Given the description of an element on the screen output the (x, y) to click on. 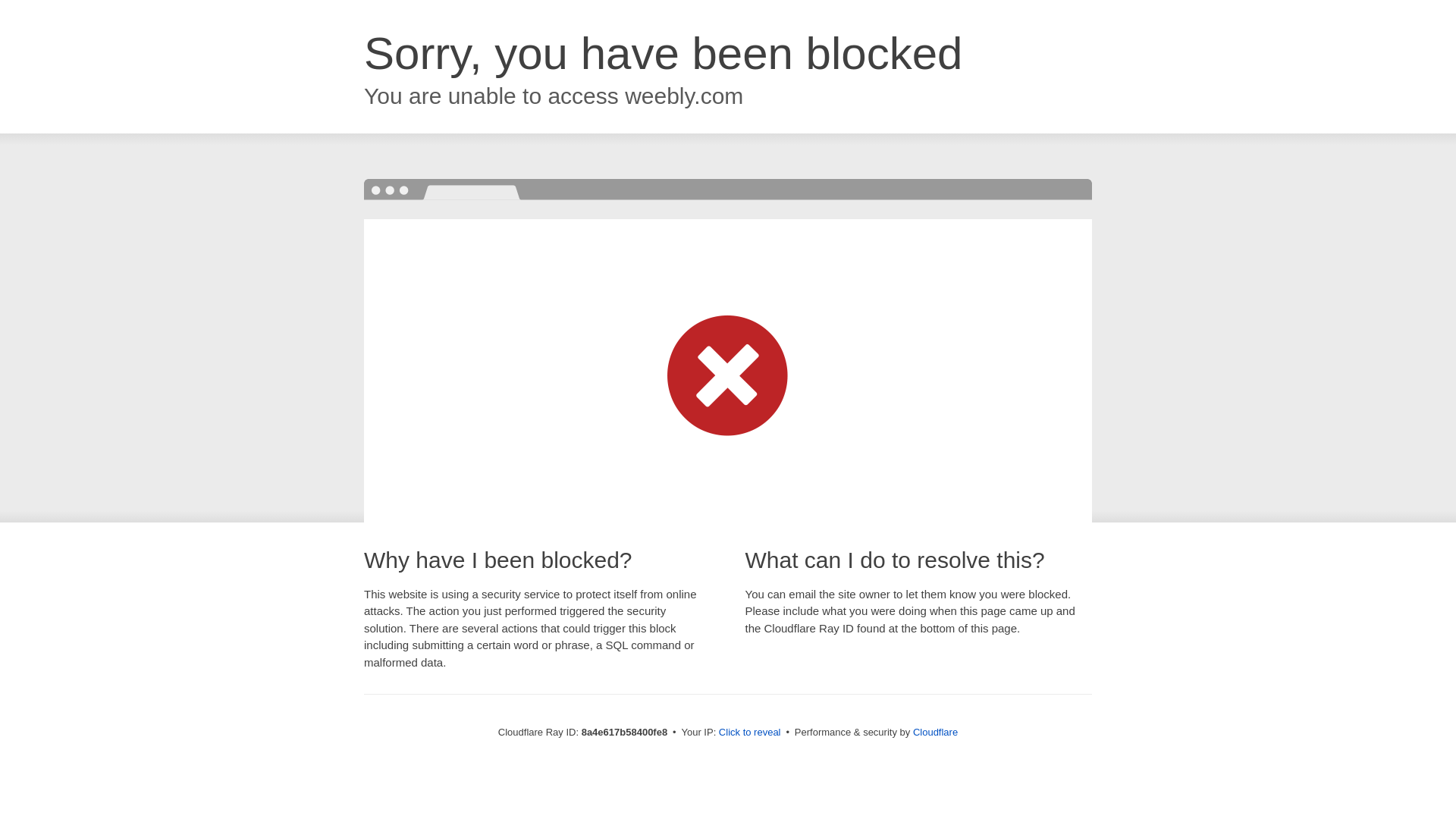
Click to reveal (749, 732)
Cloudflare (935, 731)
